Given the description of an element on the screen output the (x, y) to click on. 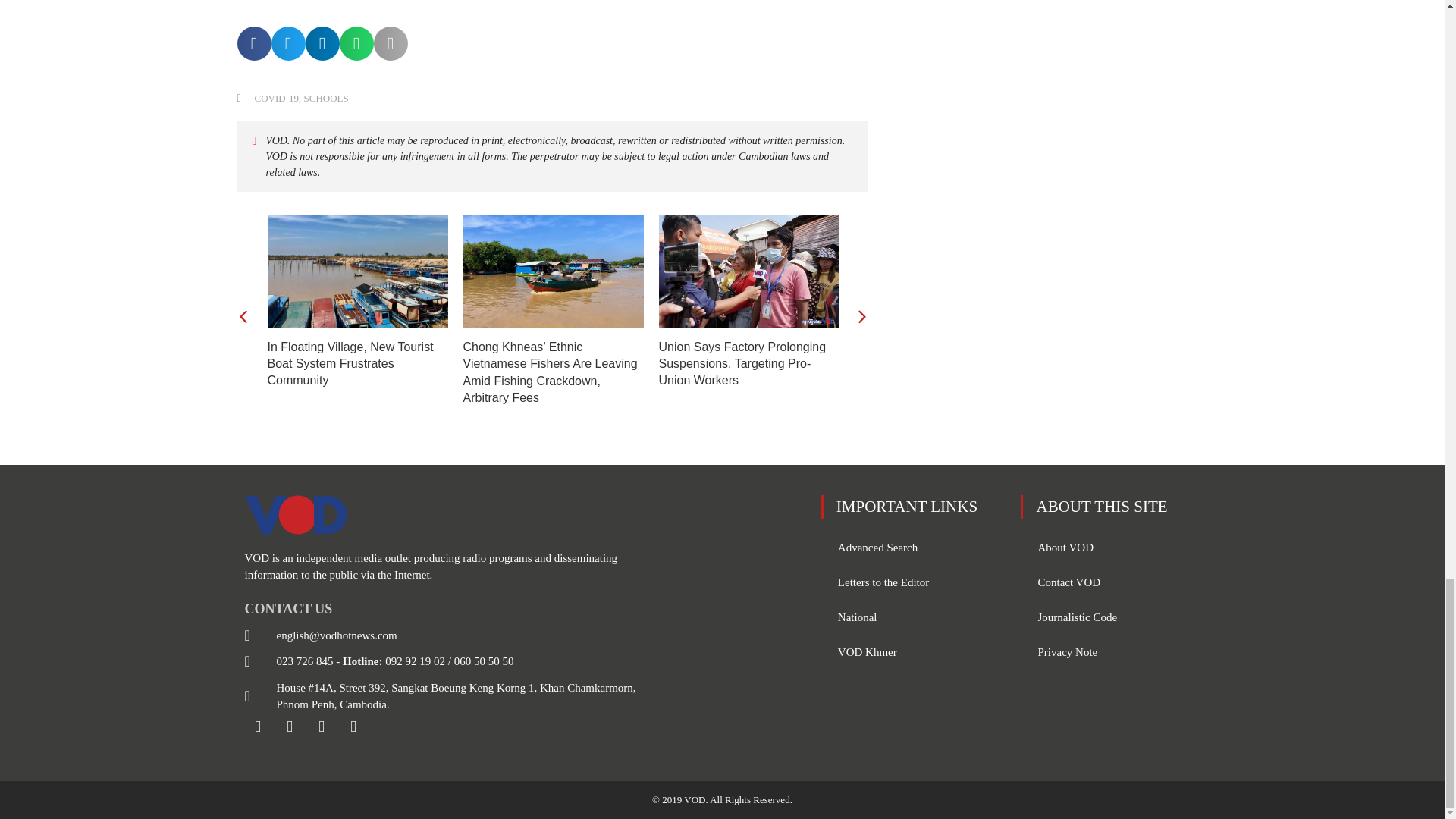
COVID-19 (276, 98)
SCHOOLS (324, 98)
